Given the description of an element on the screen output the (x, y) to click on. 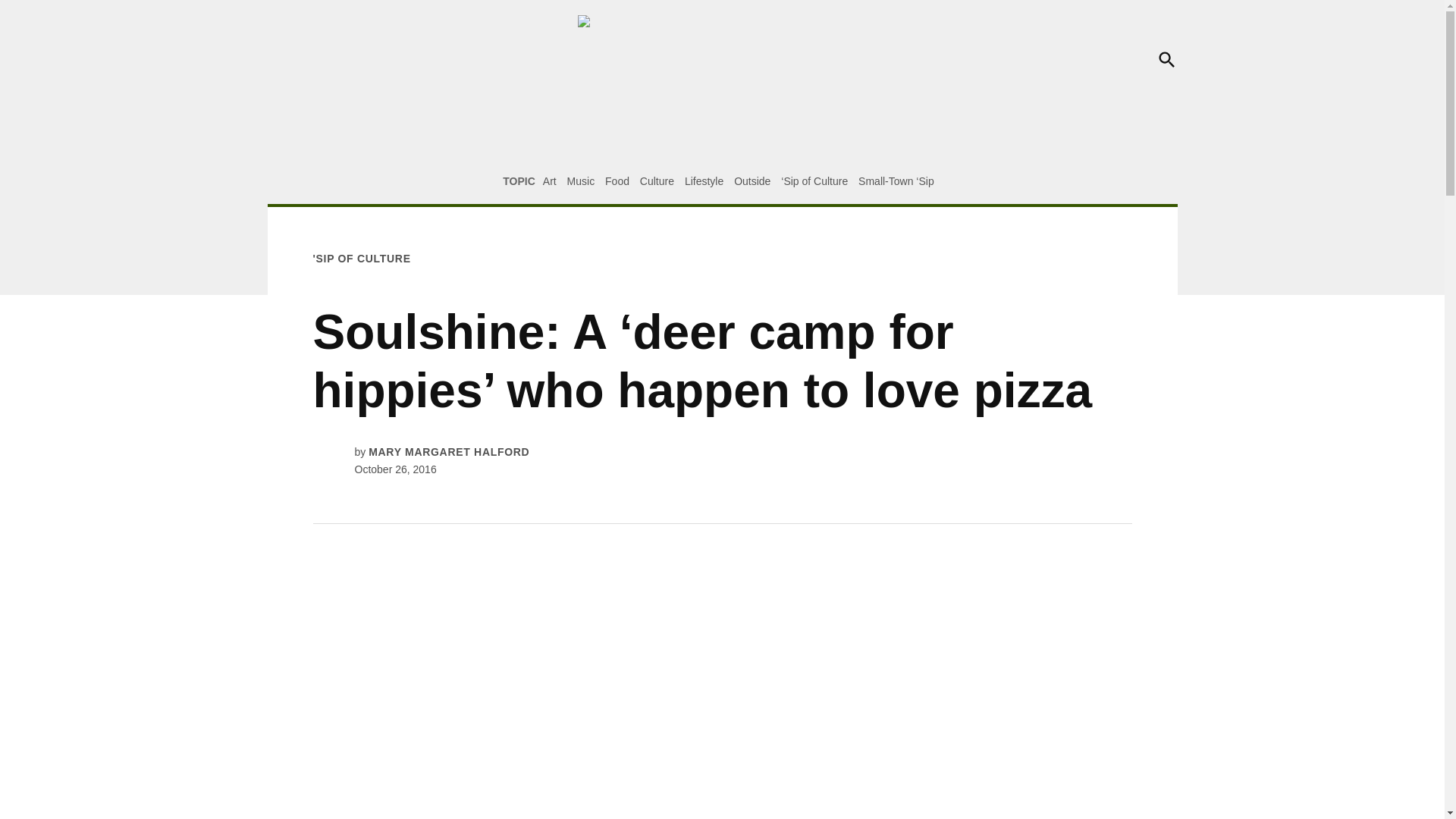
Outside (751, 181)
The 'Sip Magazine (1025, 69)
Open Search (1166, 59)
MARY MARGARET HALFORD (448, 451)
'SIP OF CULTURE (361, 258)
Art (549, 181)
Culture (657, 181)
Music (581, 181)
Lifestyle (703, 181)
Food (616, 181)
